Given the description of an element on the screen output the (x, y) to click on. 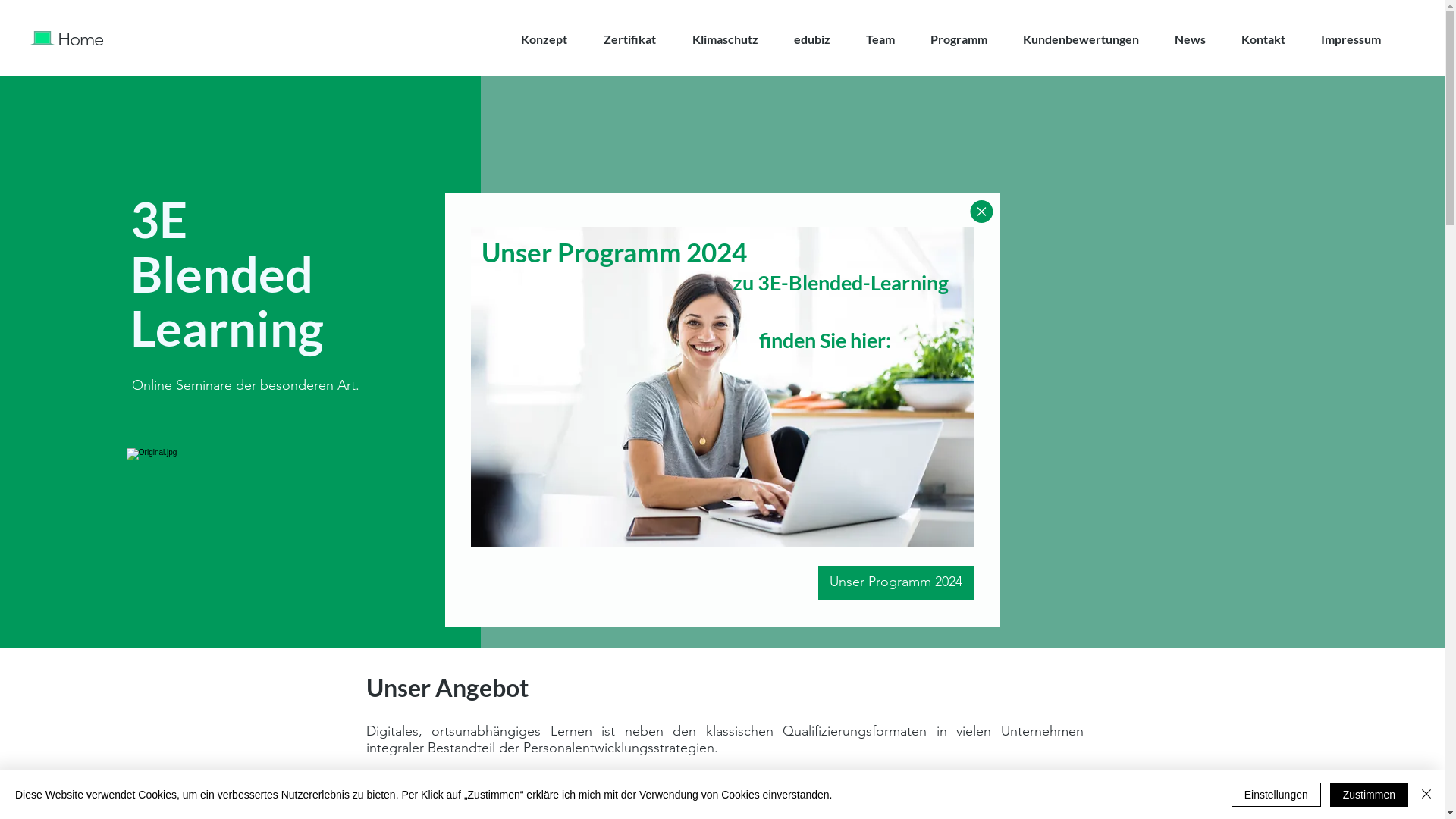
News Element type: text (1189, 39)
Unser Programm 2024 Element type: text (894, 582)
Konzept Element type: text (543, 39)
Multicolored Framed Shades Element type: hover (721, 385)
Team Element type: text (879, 39)
Programm Element type: text (958, 39)
Zustimmen Element type: text (1369, 794)
edubiz Element type: text (811, 39)
Einstellungen Element type: text (1276, 794)
Zertifikat Element type: text (629, 39)
Impressum Element type: text (1350, 39)
Kontakt Element type: text (1262, 39)
Kundenbewertungen Element type: text (1080, 39)
Klimaschutz Element type: text (724, 39)
Home Element type: text (80, 39)
